Given the description of an element on the screen output the (x, y) to click on. 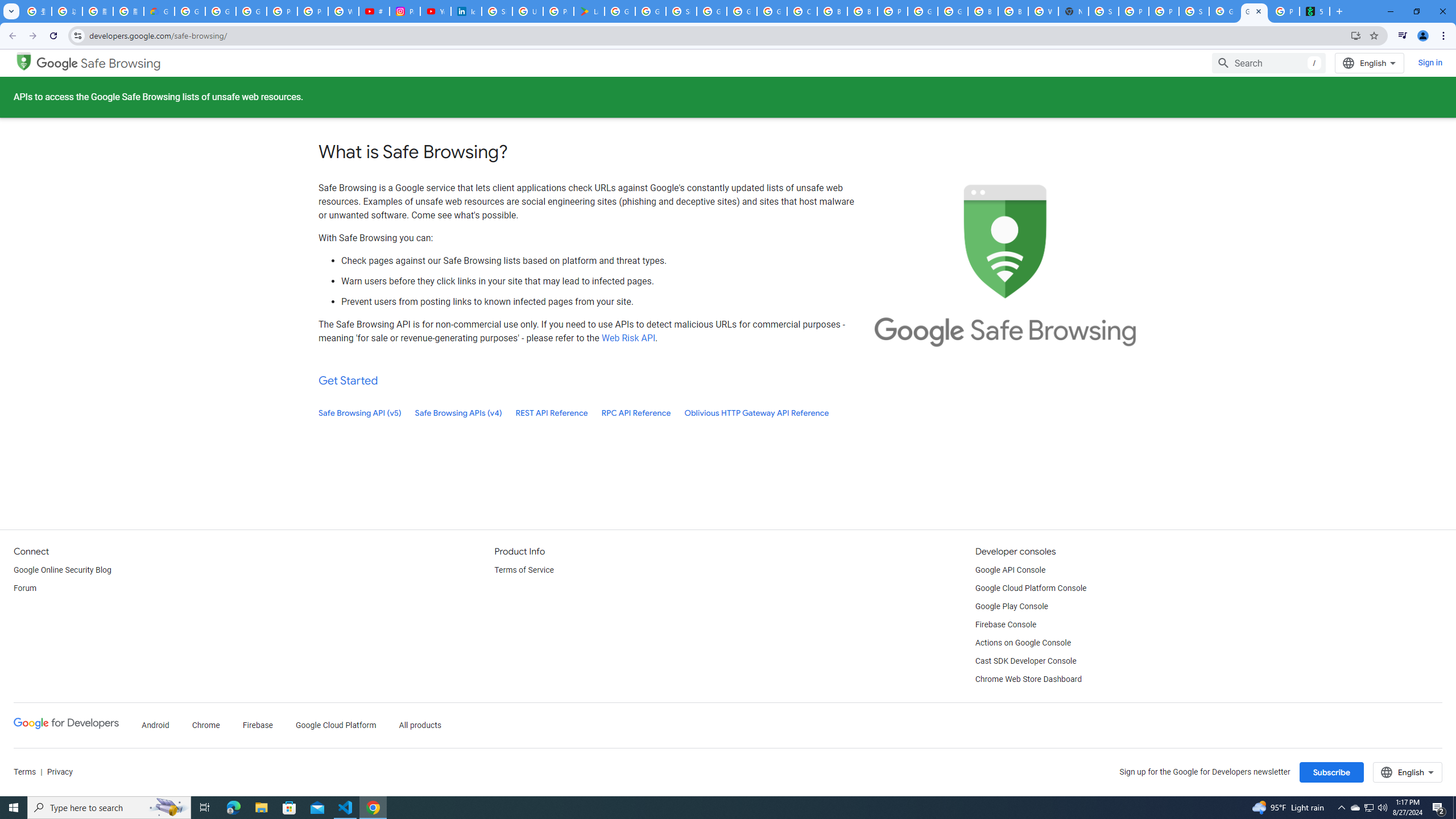
Privacy Help Center - Policies Help (312, 11)
Browse Chrome as a guest - Computer - Google Chrome Help (982, 11)
Safe Browsing APIs (v4) (458, 412)
Web Risk API (628, 337)
YouTube Culture & Trends - On The Rise: Handcam Videos (434, 11)
Subscribe (1331, 772)
Firebase (257, 725)
Google Cloud Platform (952, 11)
Actions on Google Console (1023, 642)
